Given the description of an element on the screen output the (x, y) to click on. 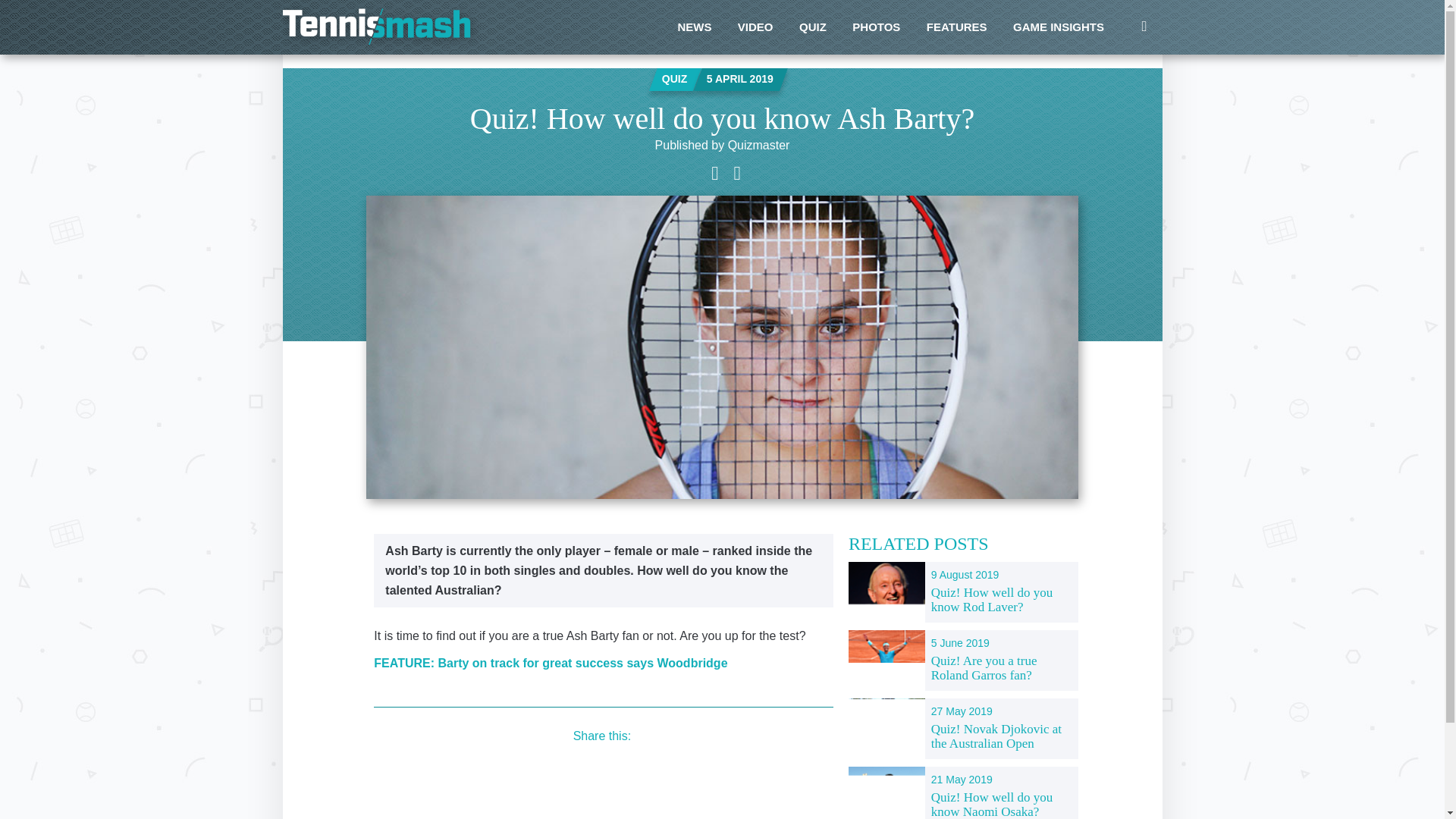
FEATURE: Barty on track for great success says Woodbridge (550, 662)
QUIZ (812, 26)
GAME INSIGHTS (1058, 26)
PHOTOS (876, 26)
FEATURES (956, 26)
QUIZ (674, 78)
VIDEO (755, 26)
NEWS (693, 26)
View all posts in Quiz (674, 78)
